Given the description of an element on the screen output the (x, y) to click on. 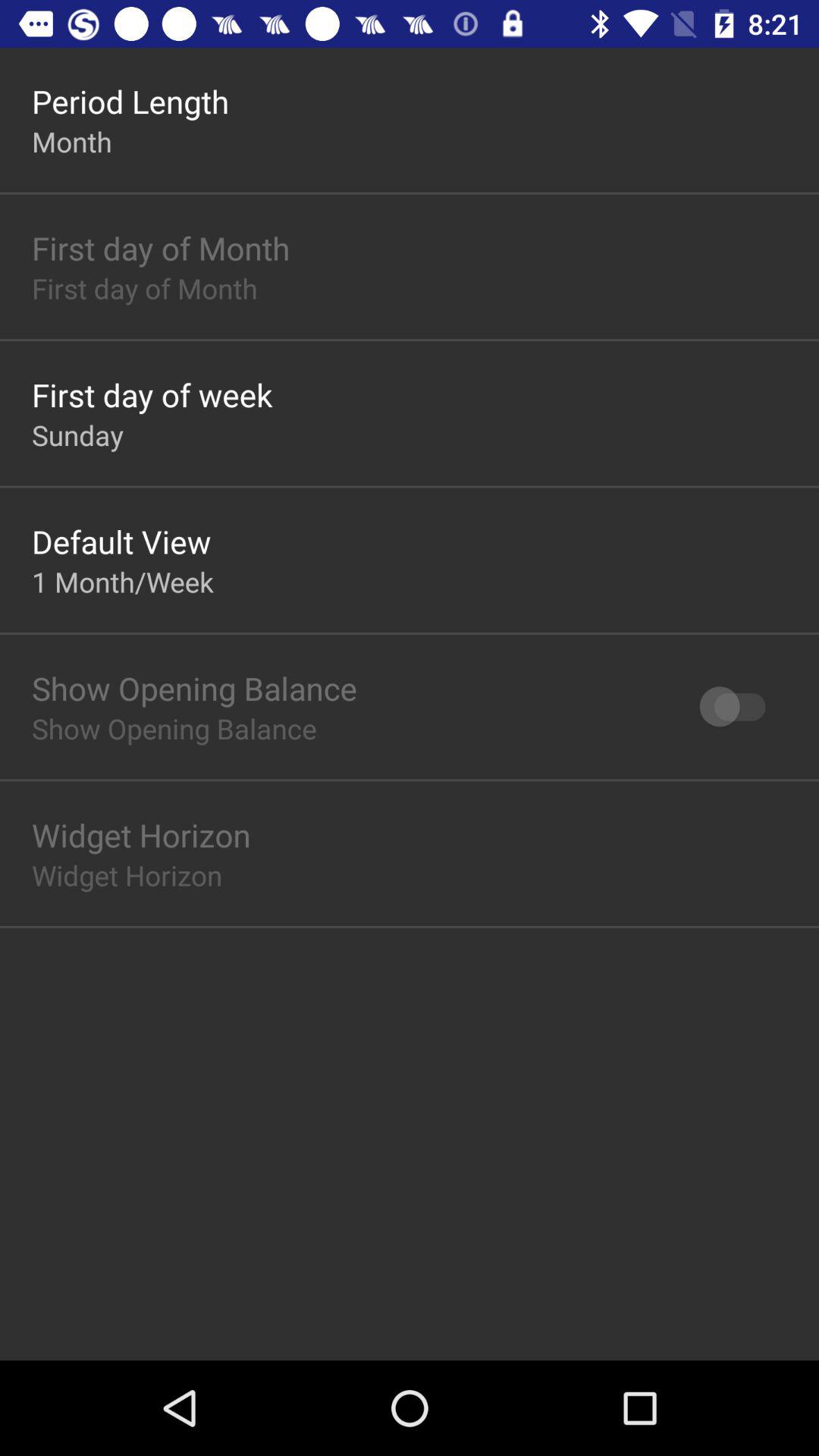
tap the icon to the right of show opening balance icon (739, 706)
